Given the description of an element on the screen output the (x, y) to click on. 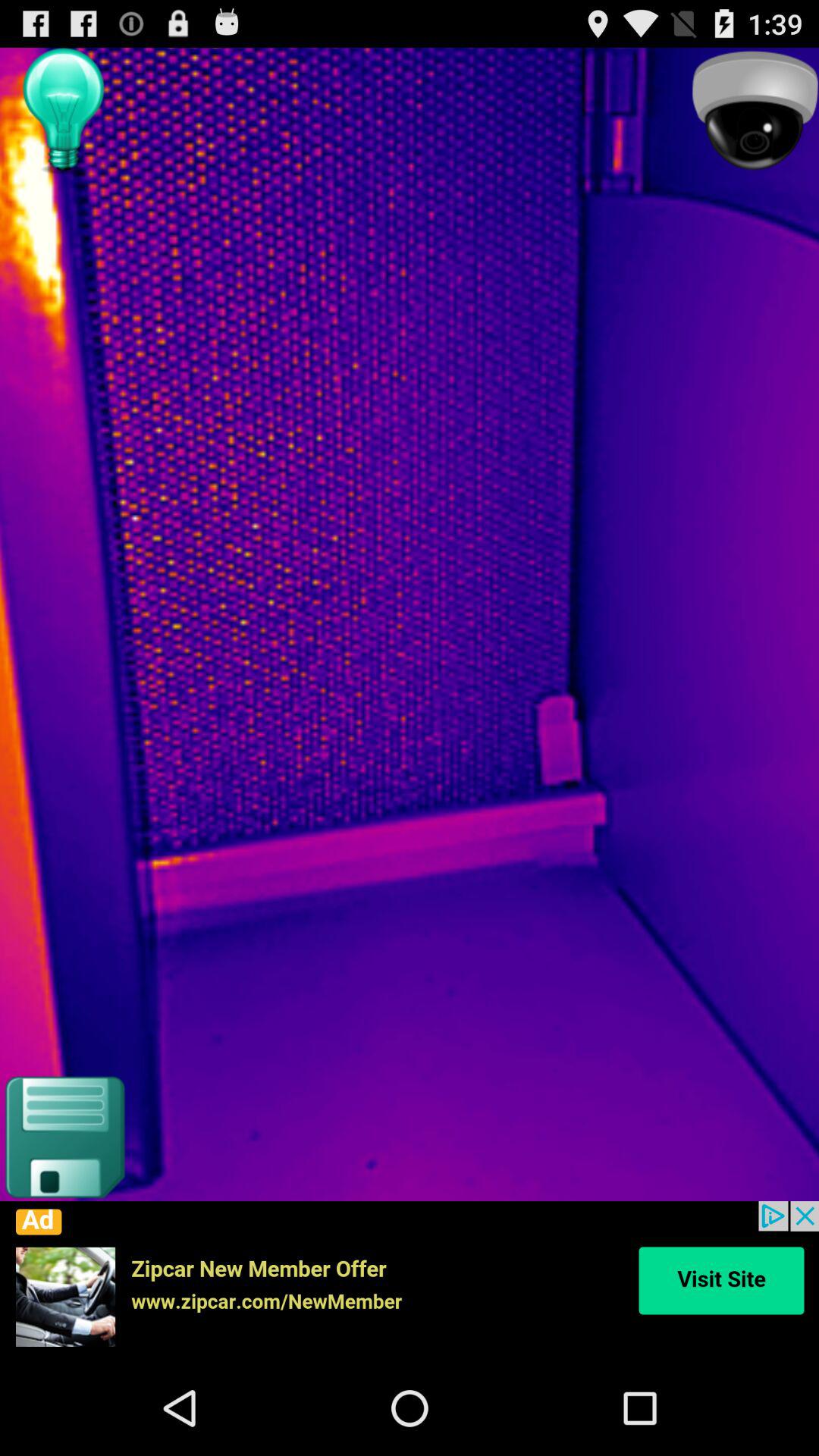
clicks camera (755, 111)
